Given the description of an element on the screen output the (x, y) to click on. 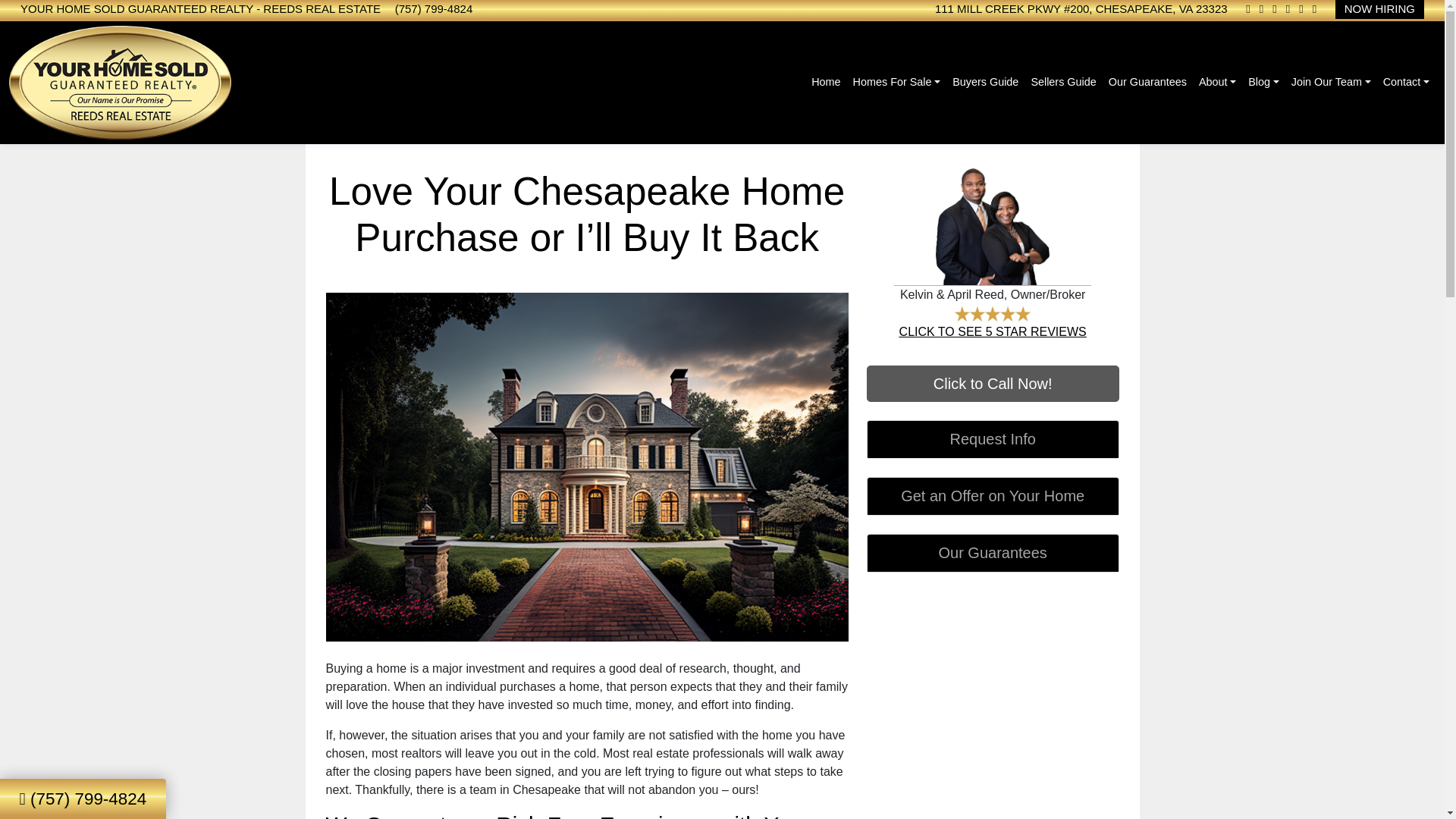
Sellers Guide (1063, 82)
Home (825, 82)
Our Guarantees (1147, 82)
About (1216, 82)
NOW HIRING (1379, 9)
Blog (1262, 82)
About (1216, 82)
Buyers Guide (985, 82)
Home (825, 82)
Homes For Sale (897, 82)
Join Our Team (1331, 82)
Blog (1262, 82)
Contact (1406, 82)
Homes For Sale (897, 82)
Join Our Team (1331, 82)
